Given the description of an element on the screen output the (x, y) to click on. 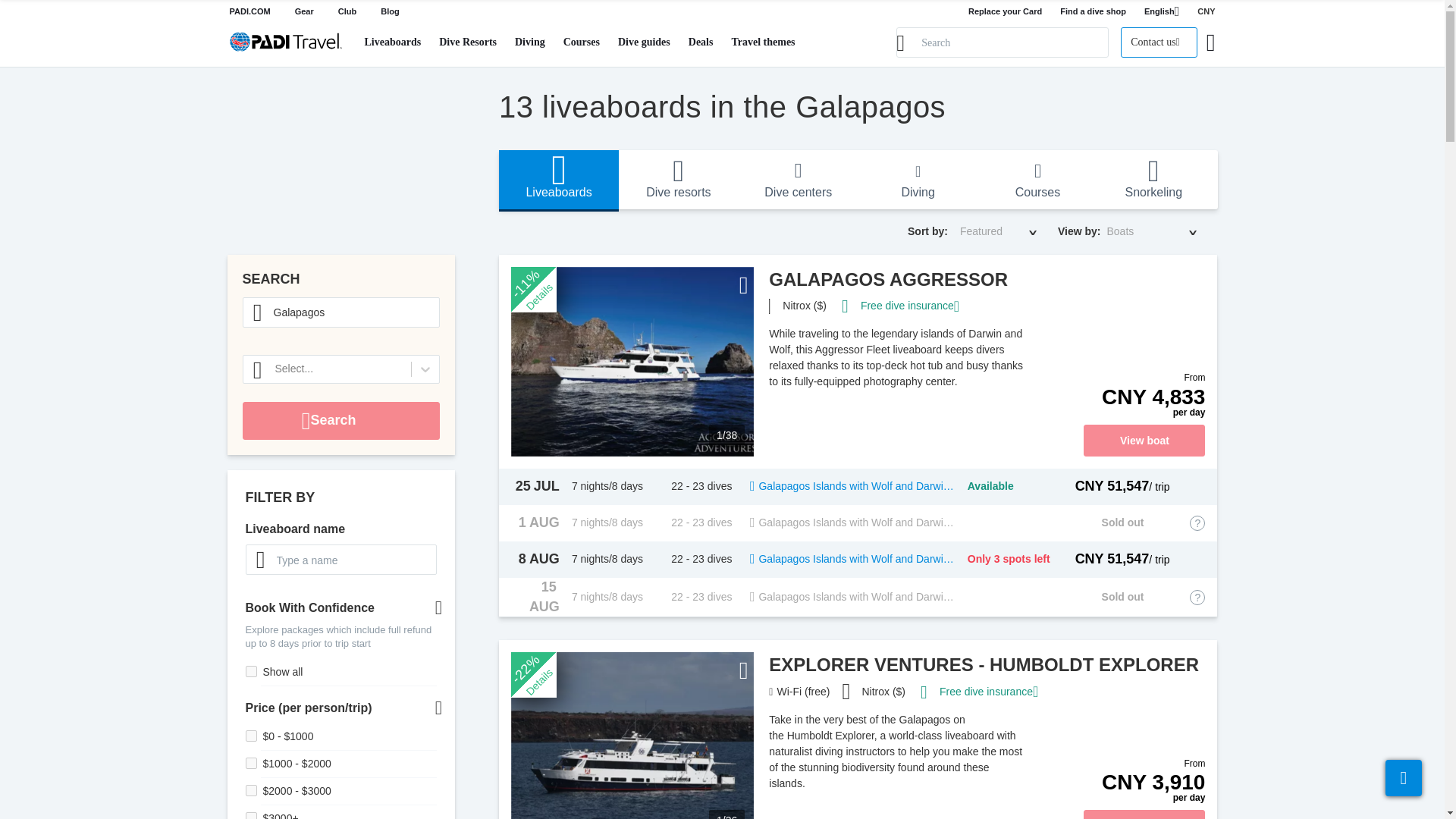
Replace your Card (1005, 11)
English (1161, 12)
Blog (389, 11)
Gear (304, 11)
Find a dive shop (1092, 11)
Club (346, 11)
PADI.COM (248, 11)
Galapagos (341, 312)
